Given the description of an element on the screen output the (x, y) to click on. 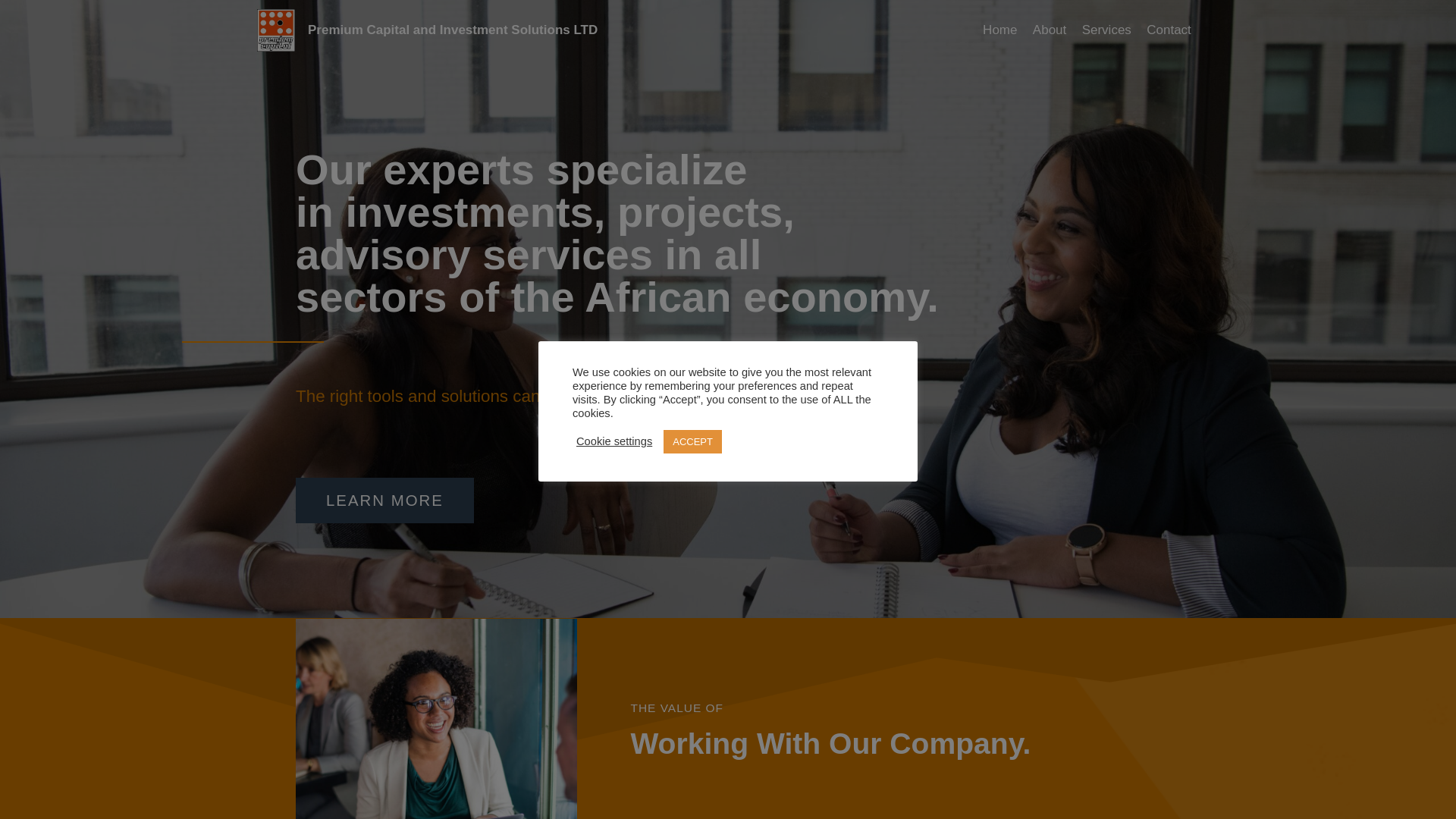
Cookie settings (614, 440)
Contact (1168, 30)
ACCEPT (692, 440)
LEARN MORE (384, 500)
Premium Capital and Investment Solutions LTD (426, 30)
About (1049, 30)
Services (1106, 30)
Home (1000, 30)
